Given the description of an element on the screen output the (x, y) to click on. 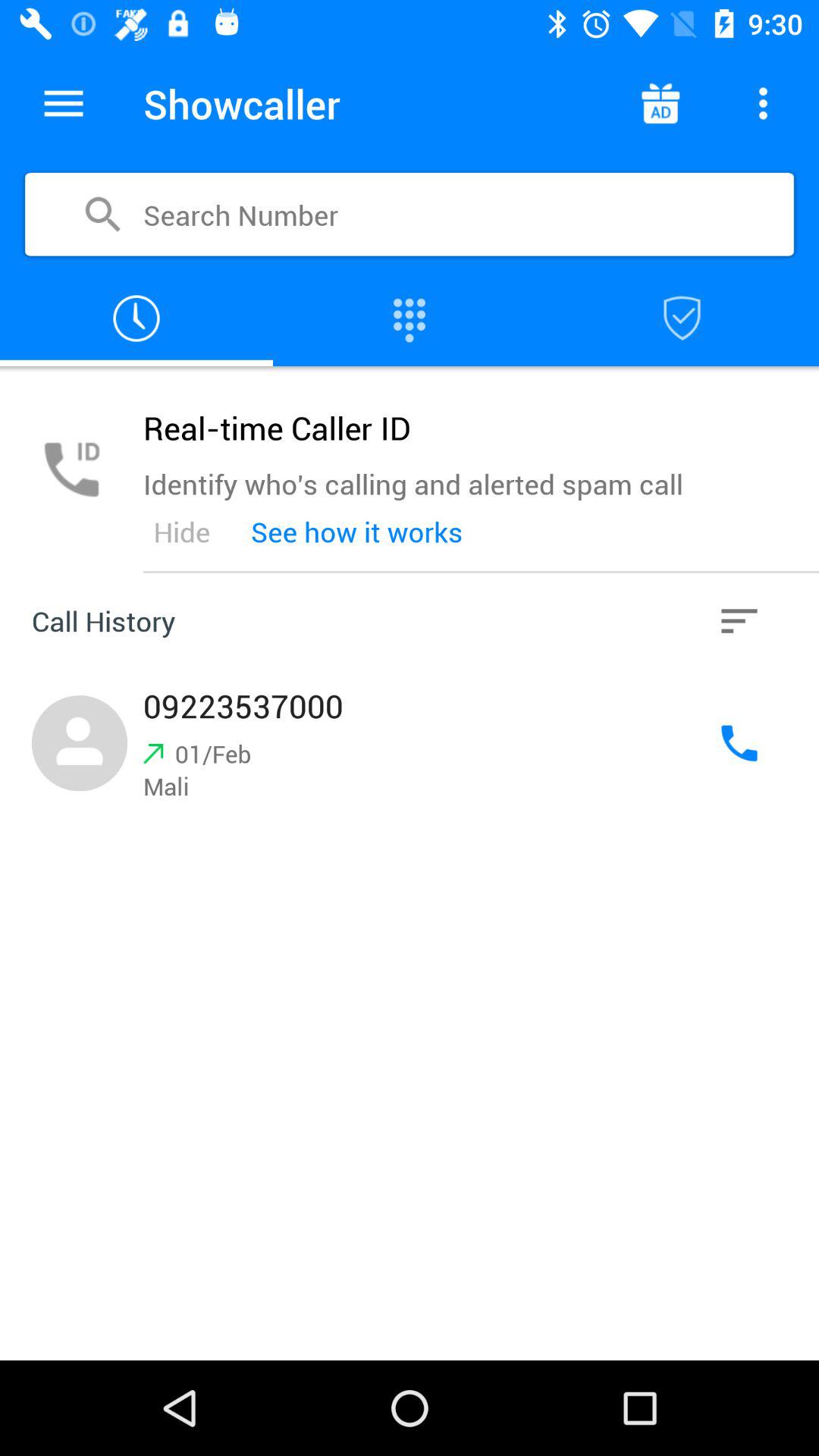
more info (763, 103)
